Given the description of an element on the screen output the (x, y) to click on. 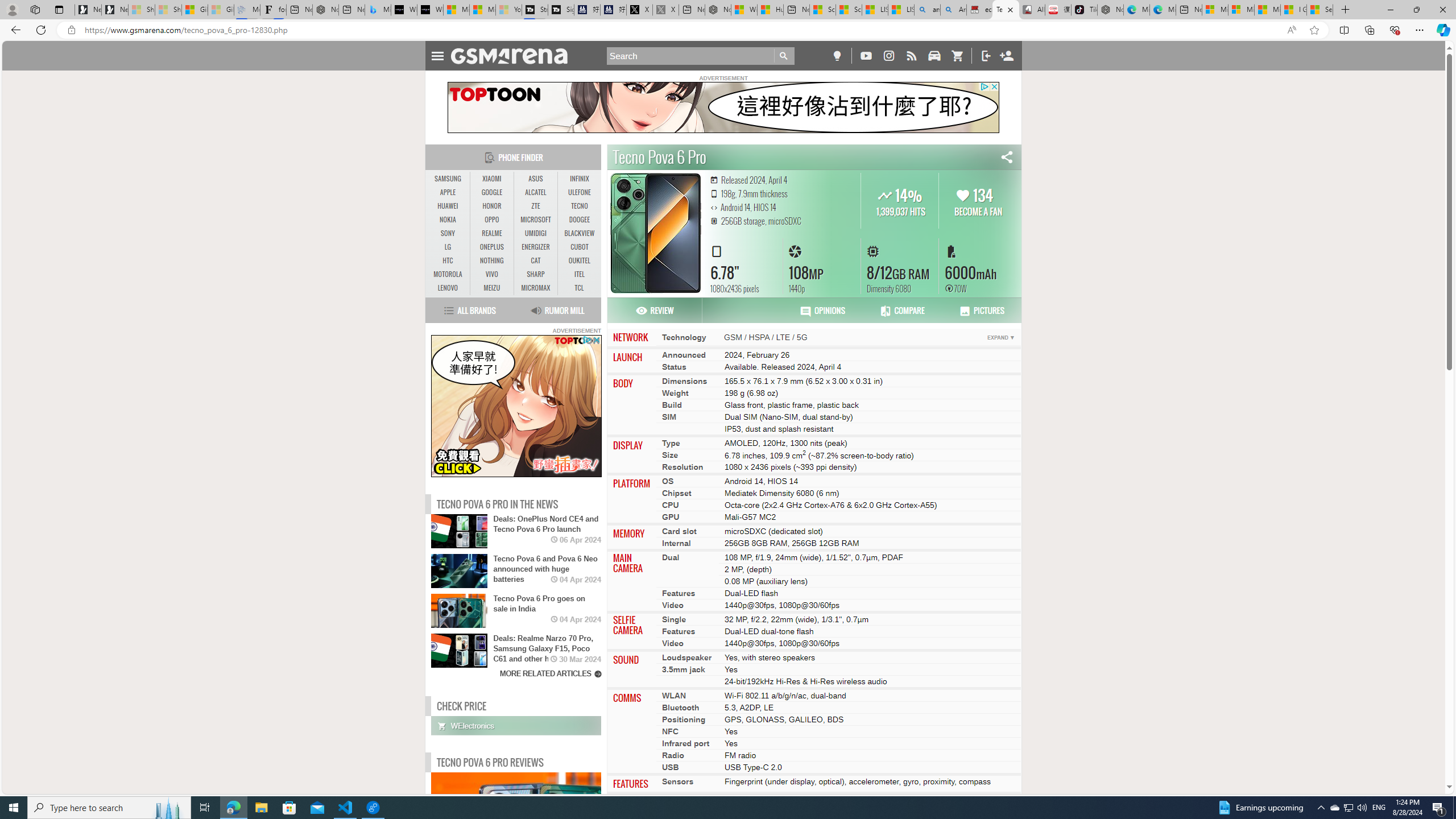
DOOGEE (579, 219)
AutomationID: anchor (513, 55)
OUKITEL (579, 260)
ENERGIZER (535, 246)
CAT (535, 260)
HUAWEI (448, 205)
ASUS (535, 178)
INFINIX (579, 178)
Nordace - #1 Japanese Best-Seller - Siena Smart Backpack (325, 9)
